Given the description of an element on the screen output the (x, y) to click on. 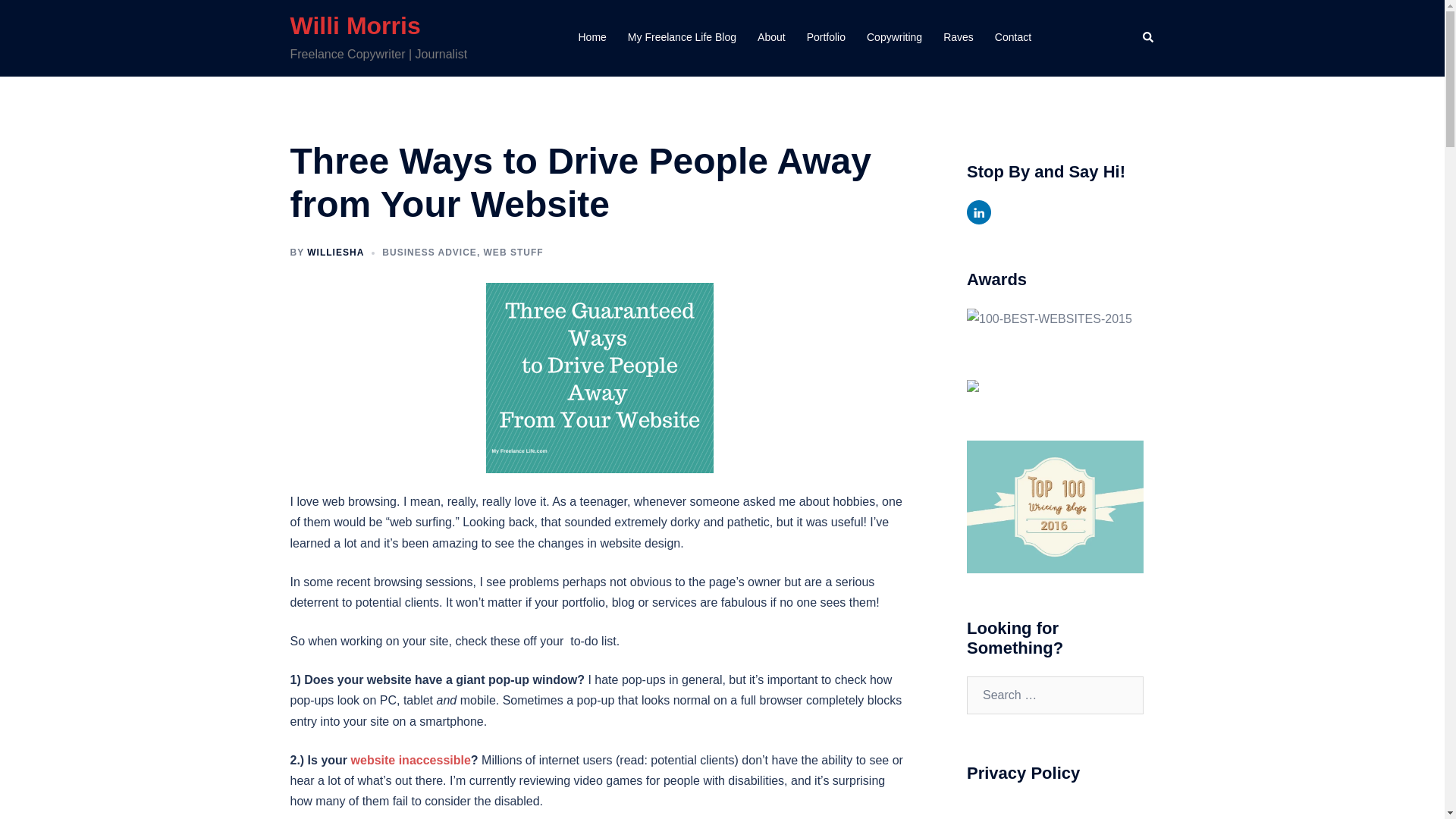
WEB STUFF (513, 252)
Raves (958, 37)
Contact (1012, 37)
My Freelance Life Blog (681, 37)
Home (591, 37)
Portfolio (825, 37)
Copywriting (893, 37)
Search (1147, 37)
website inaccessible (410, 759)
BUSINESS ADVICE (429, 252)
About (771, 37)
Privacy Policy (1010, 808)
Willi Morris (354, 25)
WILLIESHA (335, 252)
